Given the description of an element on the screen output the (x, y) to click on. 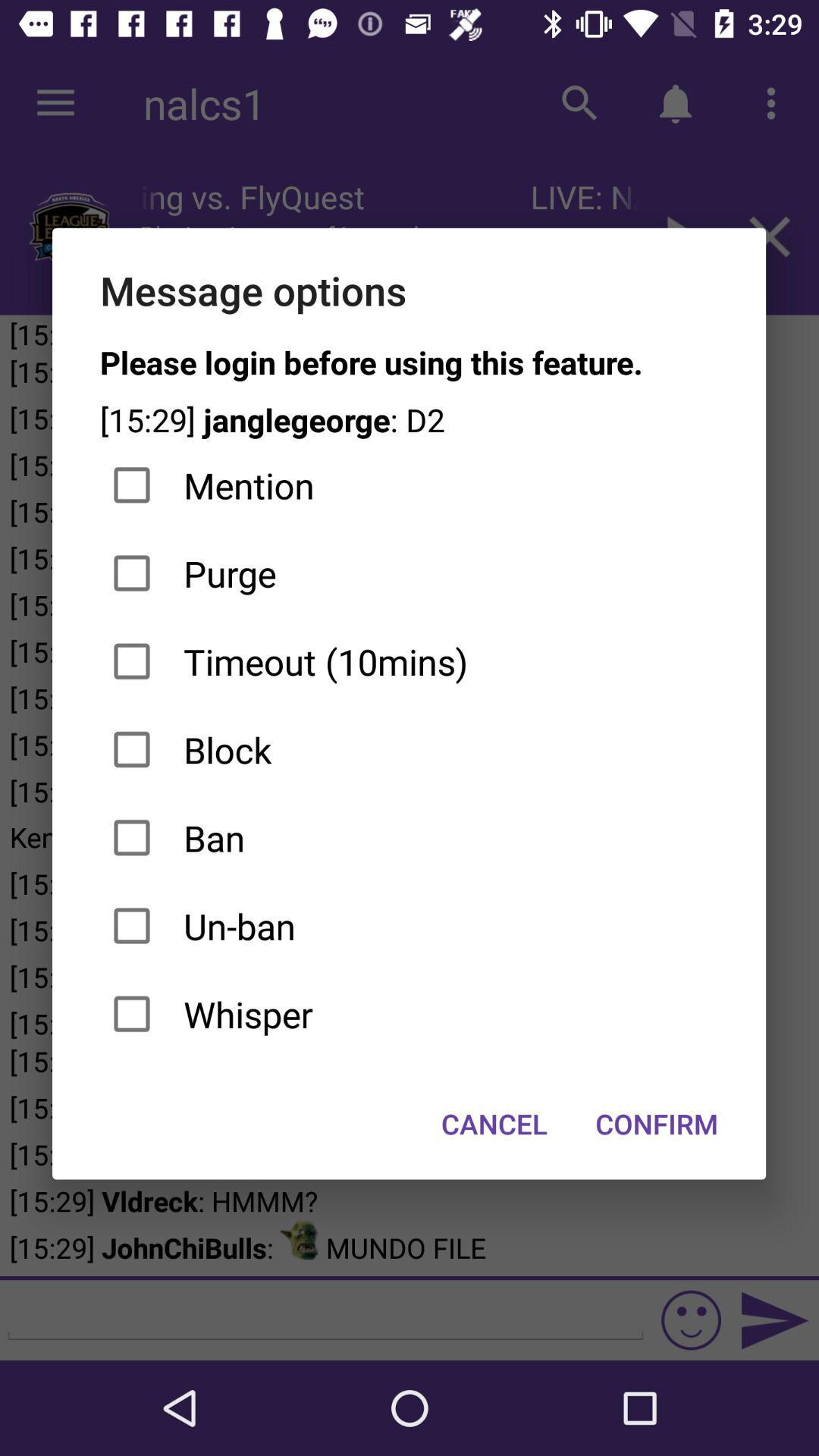
click mention checkbox (409, 485)
